Given the description of an element on the screen output the (x, y) to click on. 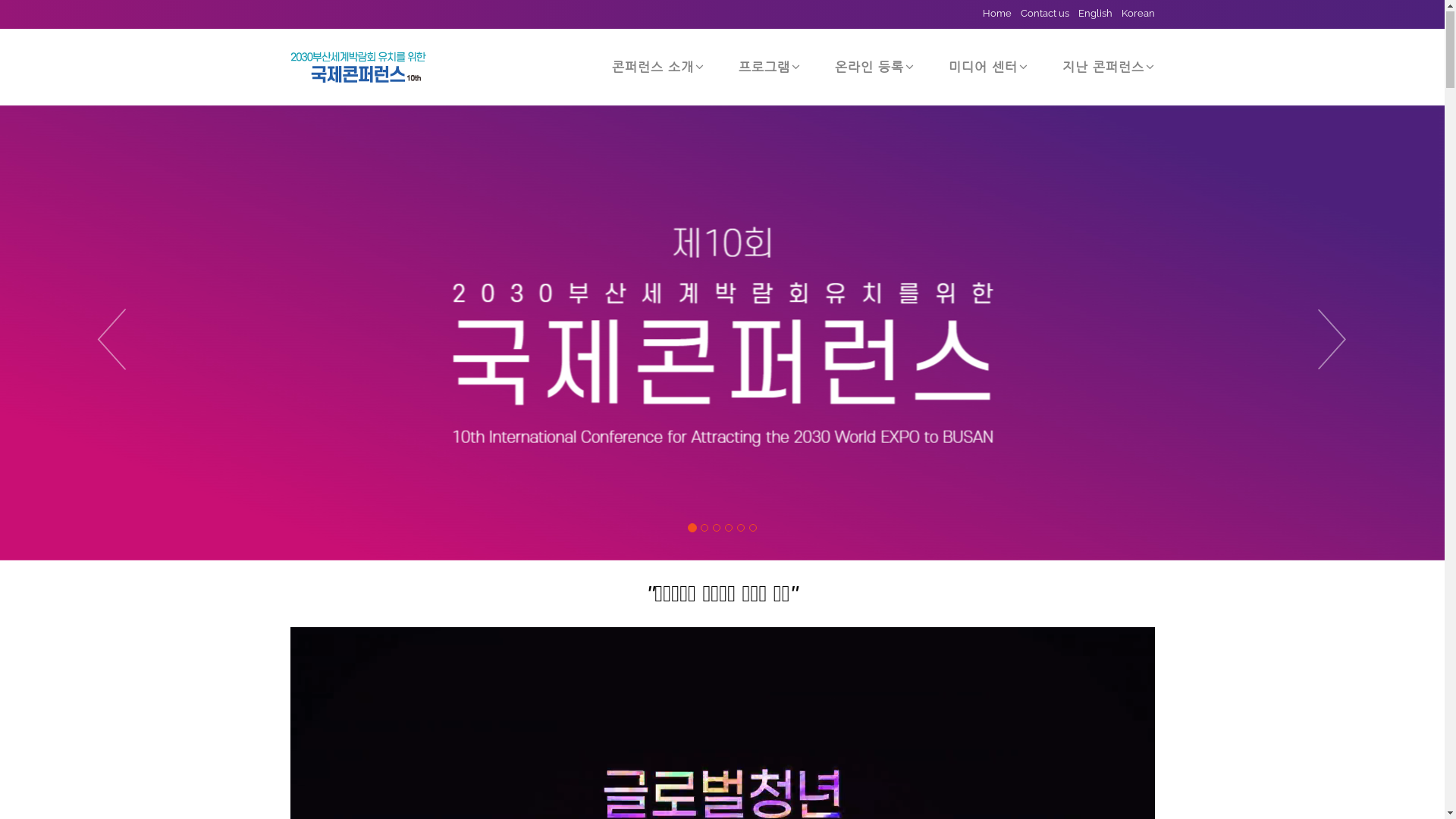
Next Element type: text (1335, 333)
English Element type: text (1090, 14)
Home Element type: text (992, 14)
Home Element type: hover (357, 67)
Contact us Element type: text (1040, 14)
Previous Element type: text (108, 333)
Korean Element type: text (1132, 14)
